Given the description of an element on the screen output the (x, y) to click on. 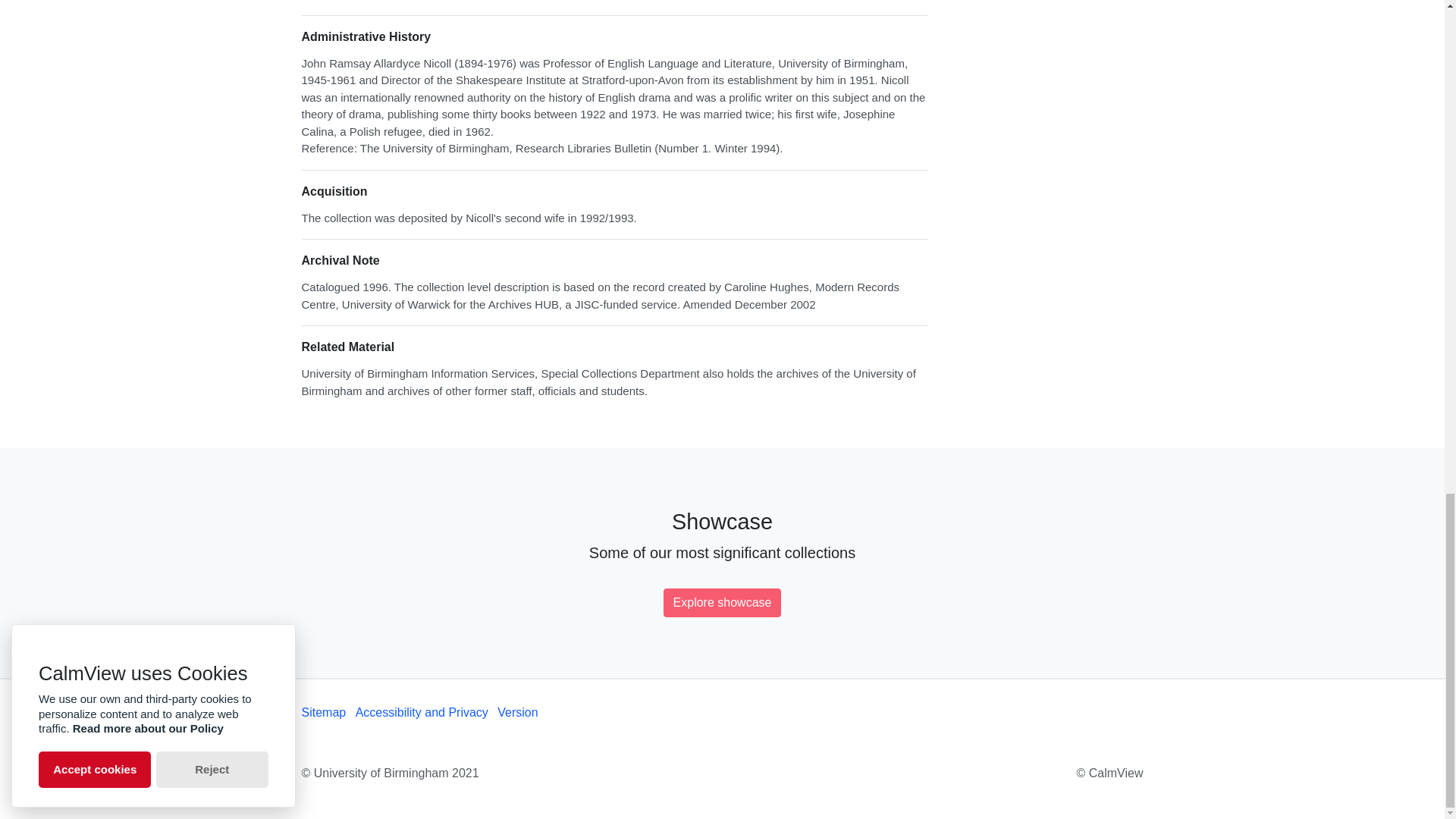
Version (517, 712)
Accessibility and Privacy (421, 712)
Explore showcase (722, 602)
Sitemap (323, 712)
